Given the description of an element on the screen output the (x, y) to click on. 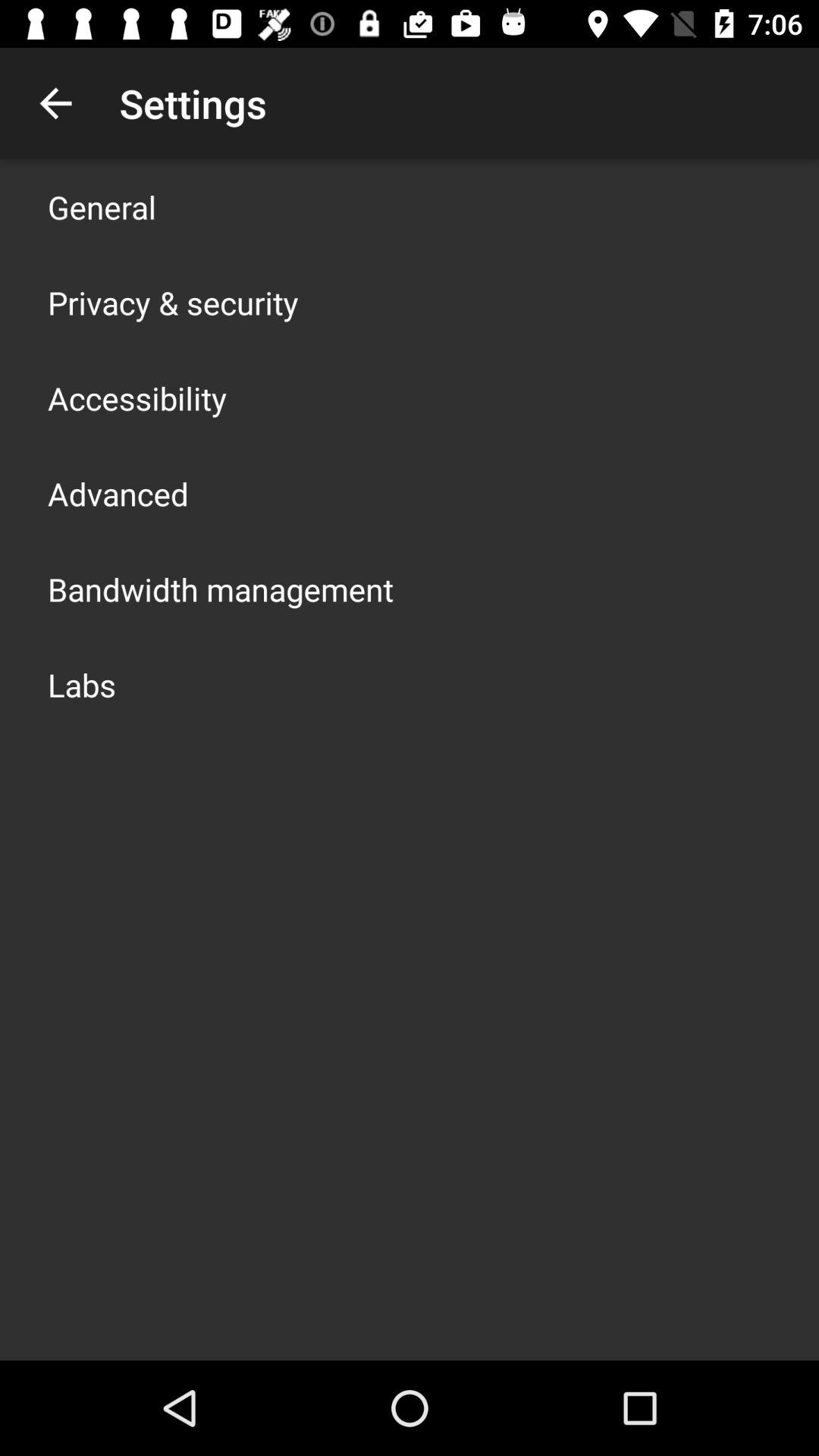
turn off the item above accessibility item (172, 302)
